Given the description of an element on the screen output the (x, y) to click on. 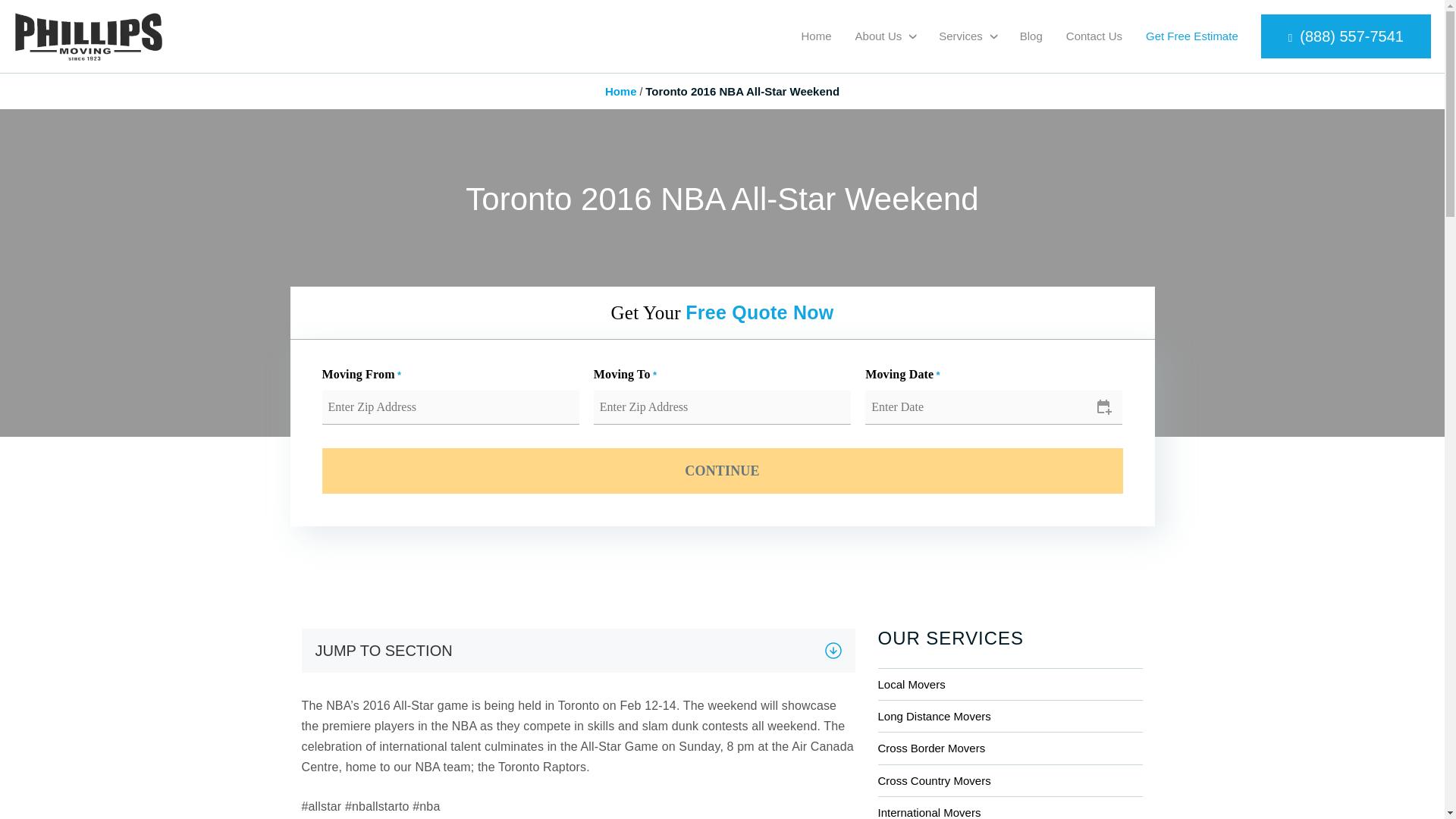
Cross Country Movers (1009, 780)
Local Movers (1009, 684)
Long Distance Movers (1009, 716)
Get Free Estimate (1192, 35)
About Us (879, 35)
Contact Us (1093, 35)
Services (960, 35)
Cross Border Movers (1009, 748)
Home (621, 91)
Continue (721, 470)
